Given the description of an element on the screen output the (x, y) to click on. 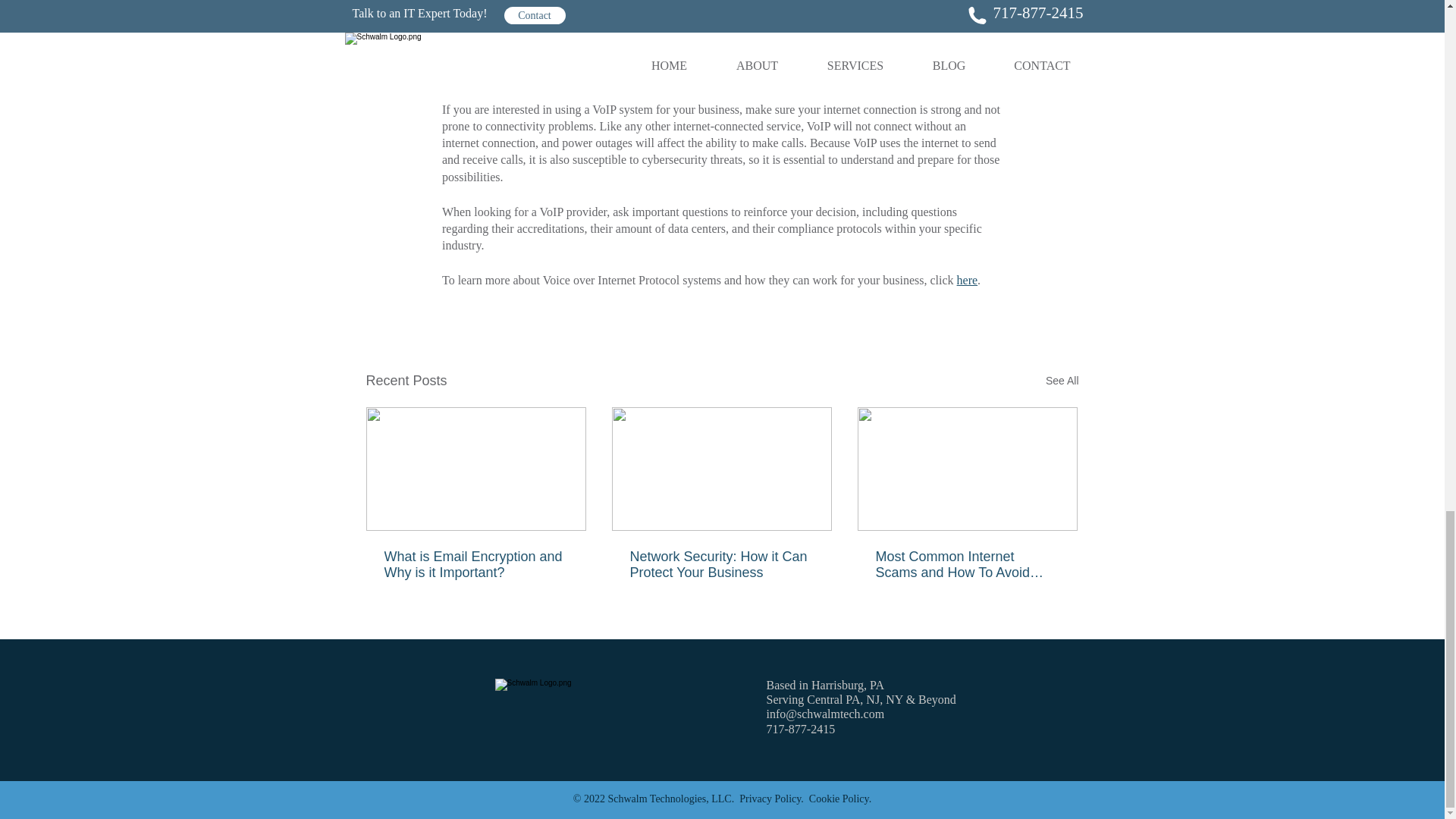
What is Email Encryption and Why is it Important? (475, 564)
here (966, 279)
Privacy Policy.  (772, 798)
Most Common Internet Scams and How To Avoid Them (966, 564)
717-877-2415 (799, 728)
See All (1061, 381)
Network Security: How it Can Protect Your Business (720, 564)
Cookie Policy. (839, 798)
